Given the description of an element on the screen output the (x, y) to click on. 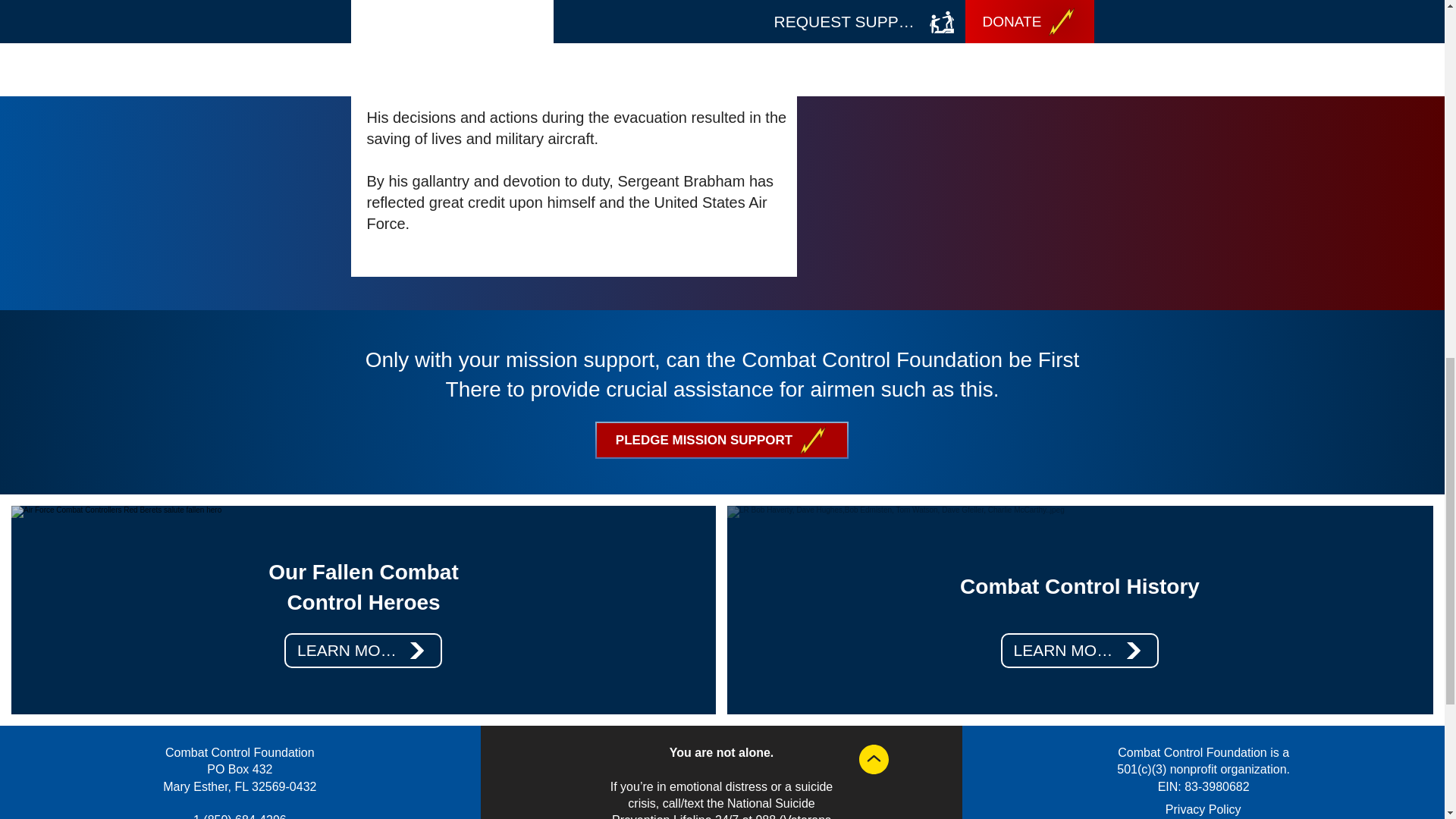
Privacy Policy (1203, 809)
LEARN MORE (1079, 650)
PLEDGE MISSION SUPPORT (720, 439)
LEARN MORE (362, 650)
